Given the description of an element on the screen output the (x, y) to click on. 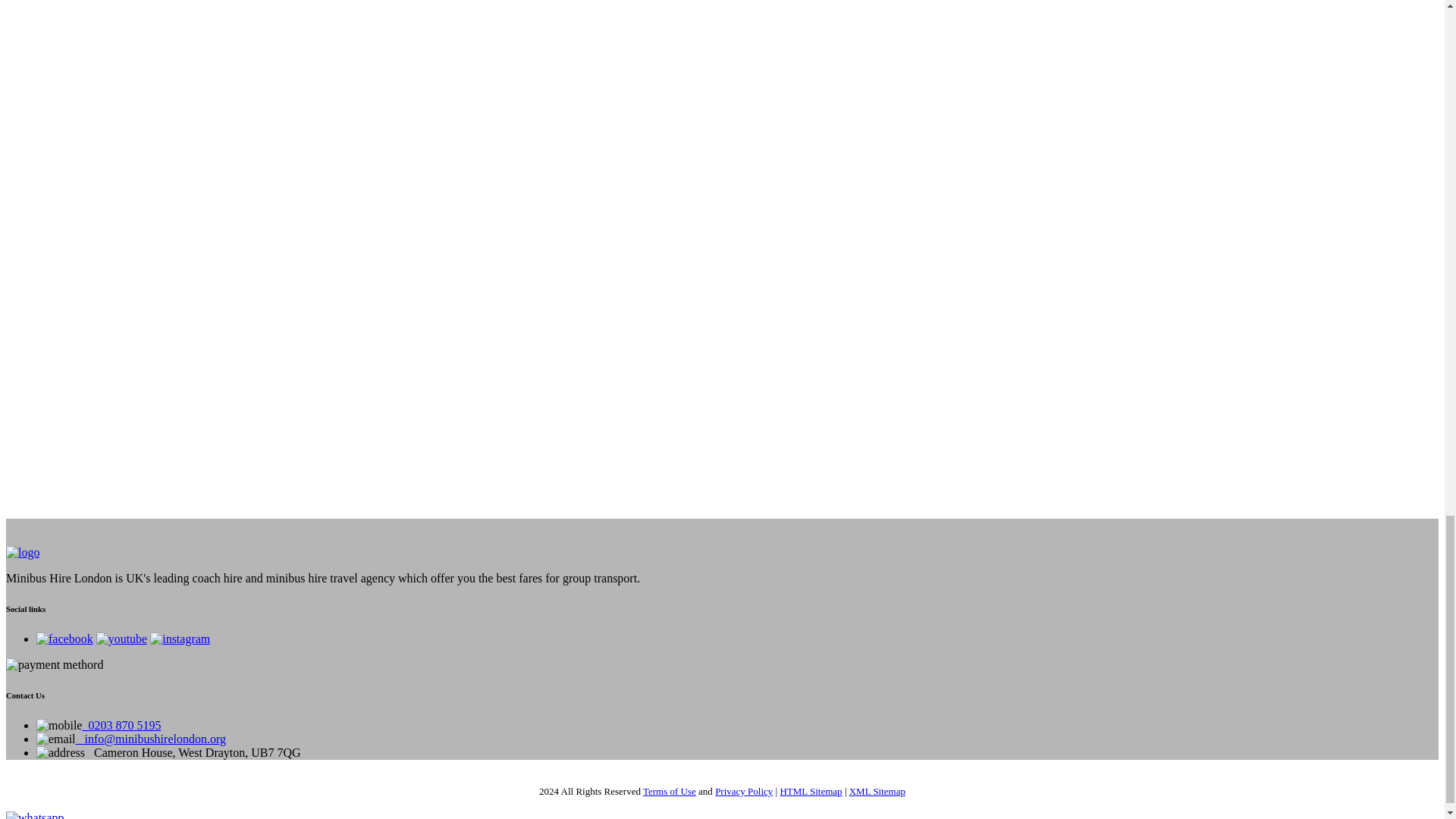
  0203 870 5195 (120, 725)
HTML Sitemap (809, 790)
Privacy Policy (743, 790)
XML Sitemap (876, 790)
Terms of Use (669, 790)
